Given the description of an element on the screen output the (x, y) to click on. 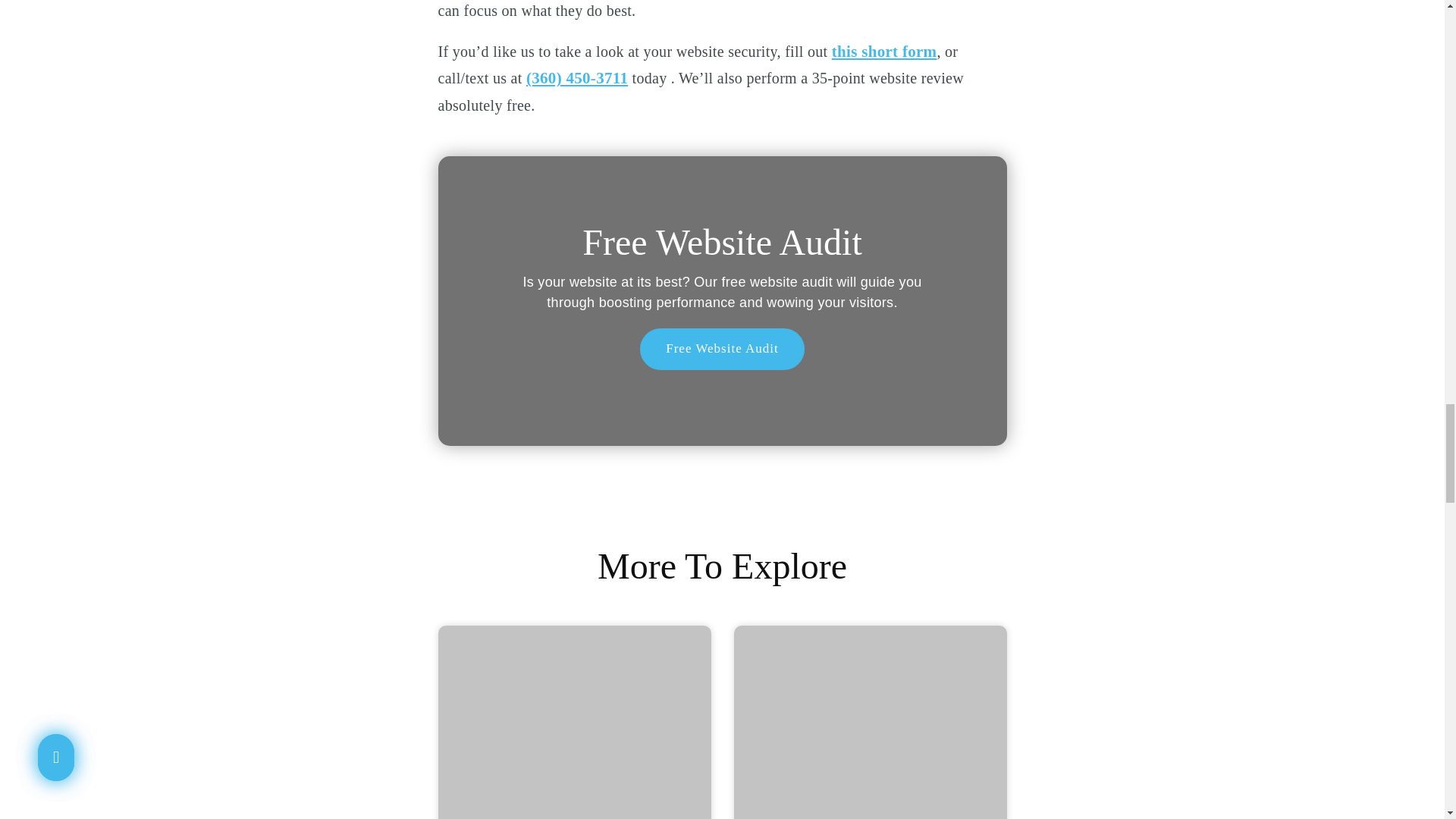
Free Website Audit (722, 349)
this short form (884, 51)
